Given the description of an element on the screen output the (x, y) to click on. 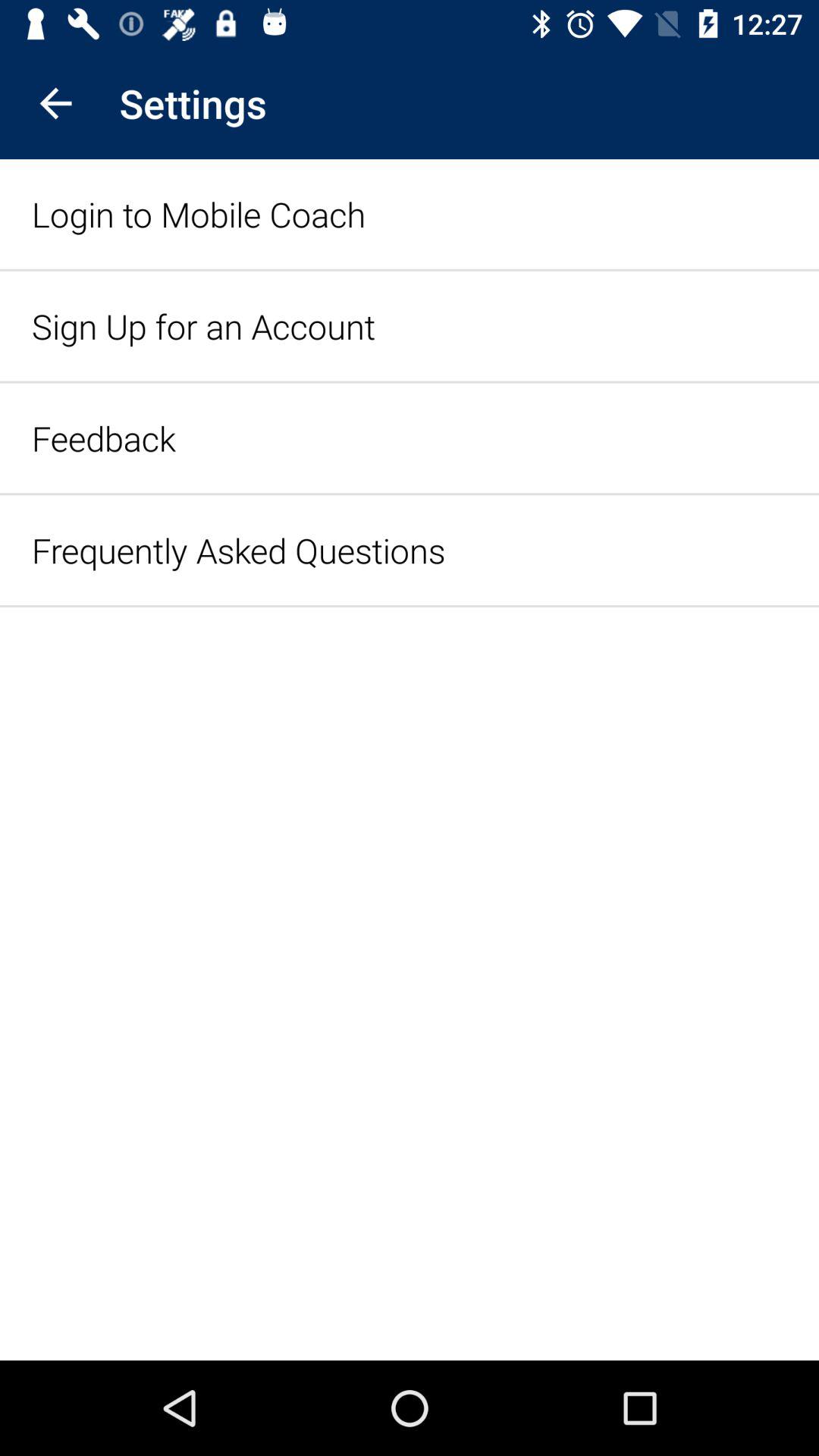
jump until the frequently asked questions icon (238, 550)
